Given the description of an element on the screen output the (x, y) to click on. 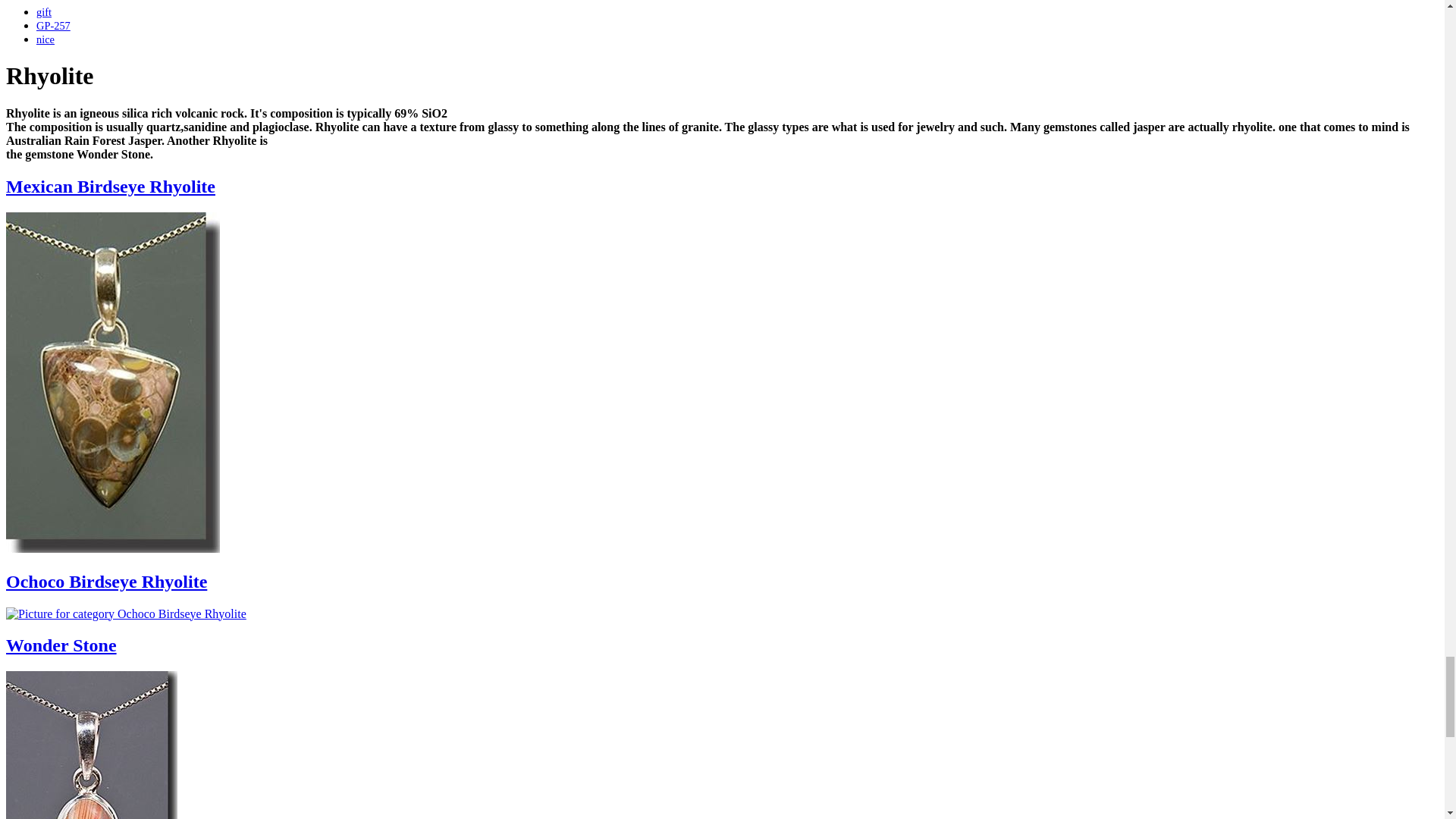
Show products in category Wonder Stone (60, 645)
Show products in category Ochoco Birdseye Rhyolite (125, 612)
Show products in category Mexican Birdseye Rhyolite (112, 549)
Show products in category Wonder Stone (91, 744)
Show products in category Ochoco Birdseye Rhyolite (105, 581)
Show products in category Mexican Birdseye Rhyolite (110, 186)
Show products in category Ochoco Birdseye Rhyolite (125, 612)
